Given the description of an element on the screen output the (x, y) to click on. 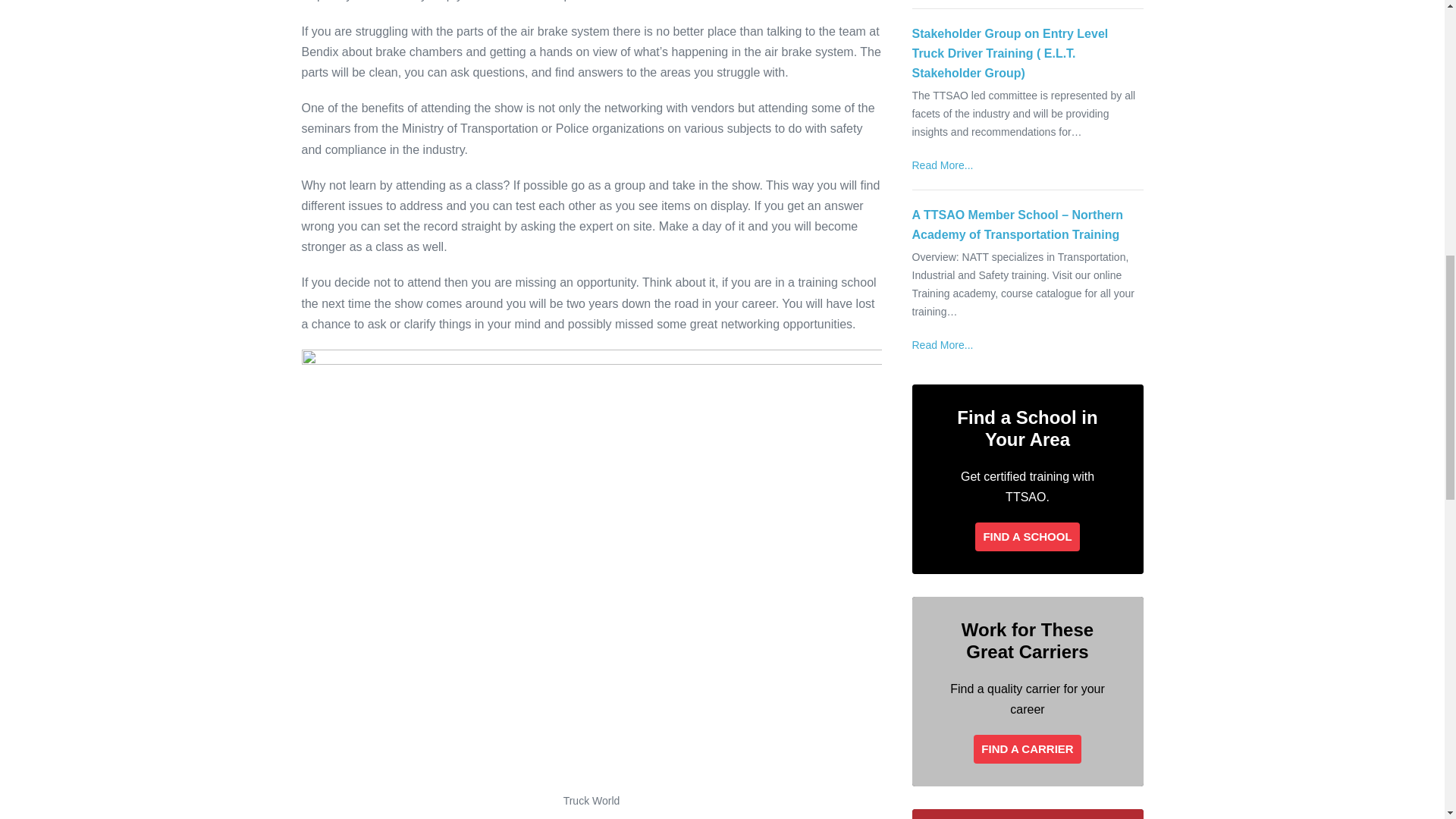
Read More... (941, 164)
Read More... (941, 345)
Read More... (941, 164)
